Given the description of an element on the screen output the (x, y) to click on. 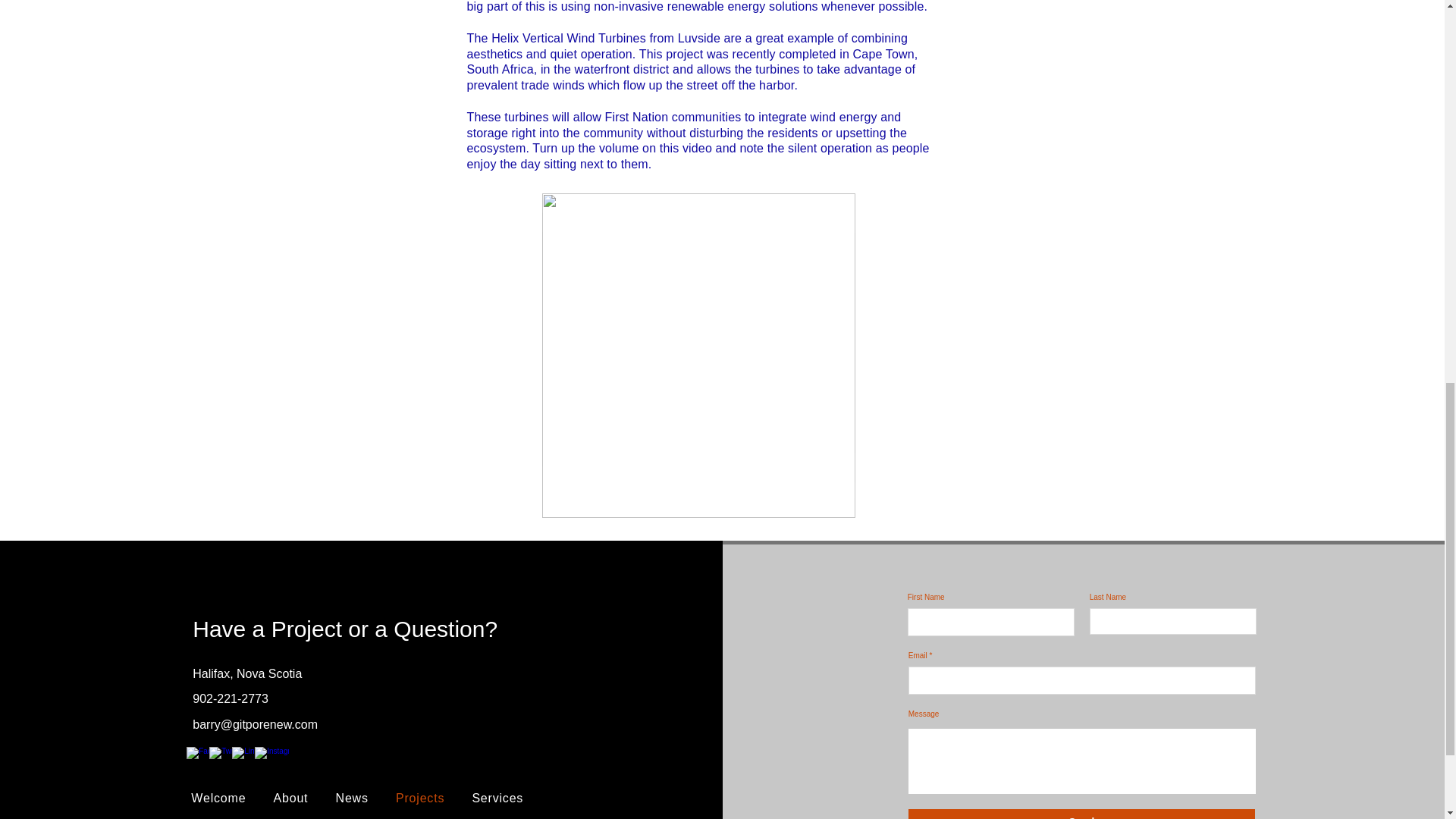
Send (1081, 814)
News (351, 798)
902-221-2773 (229, 698)
Projects (419, 798)
Services (497, 798)
Welcome (218, 798)
About (290, 798)
